Given the description of an element on the screen output the (x, y) to click on. 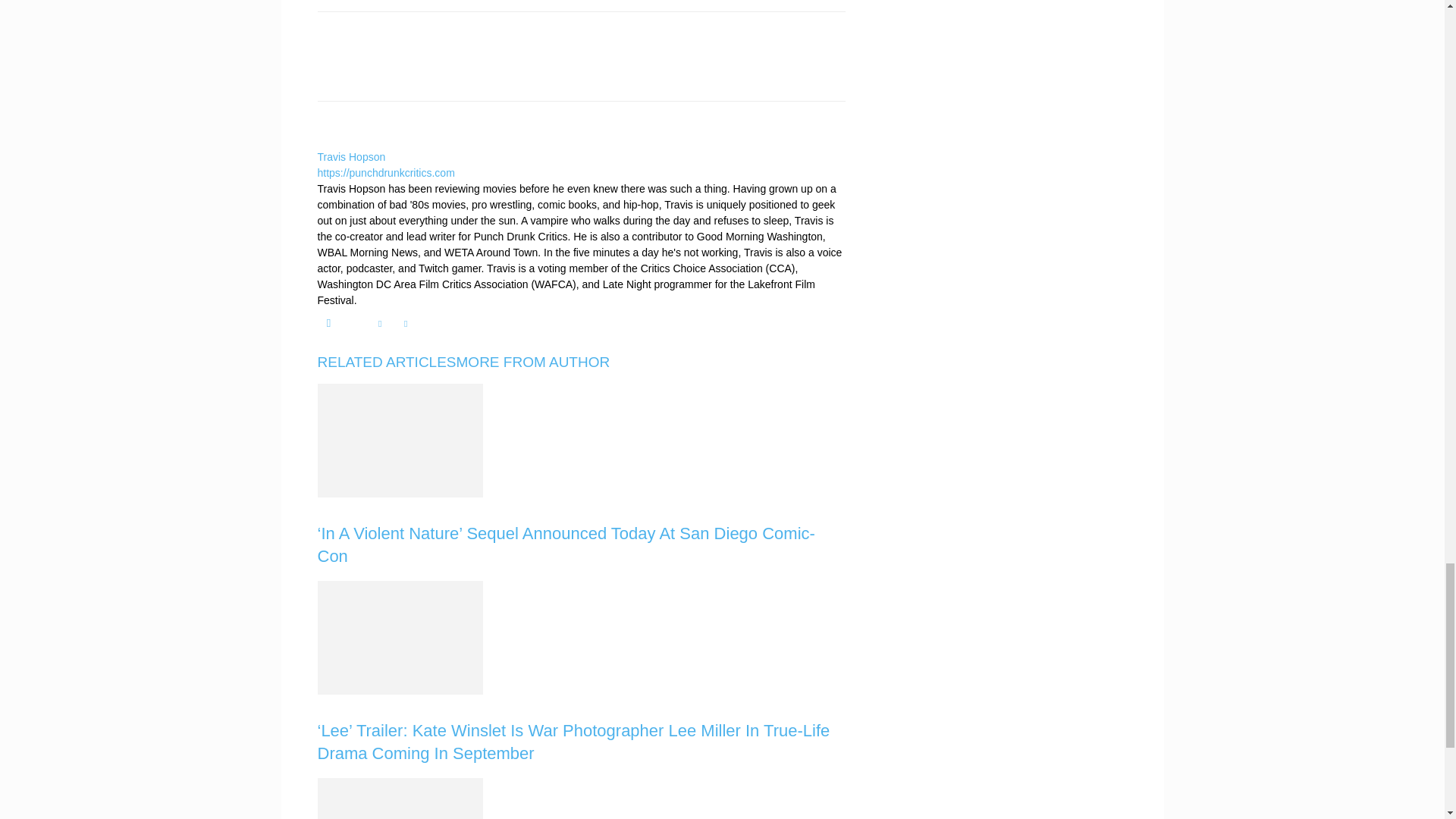
Twitter (379, 323)
Instagram (328, 322)
bottomFacebookLike (430, 35)
Paypal (353, 319)
